Given the description of an element on the screen output the (x, y) to click on. 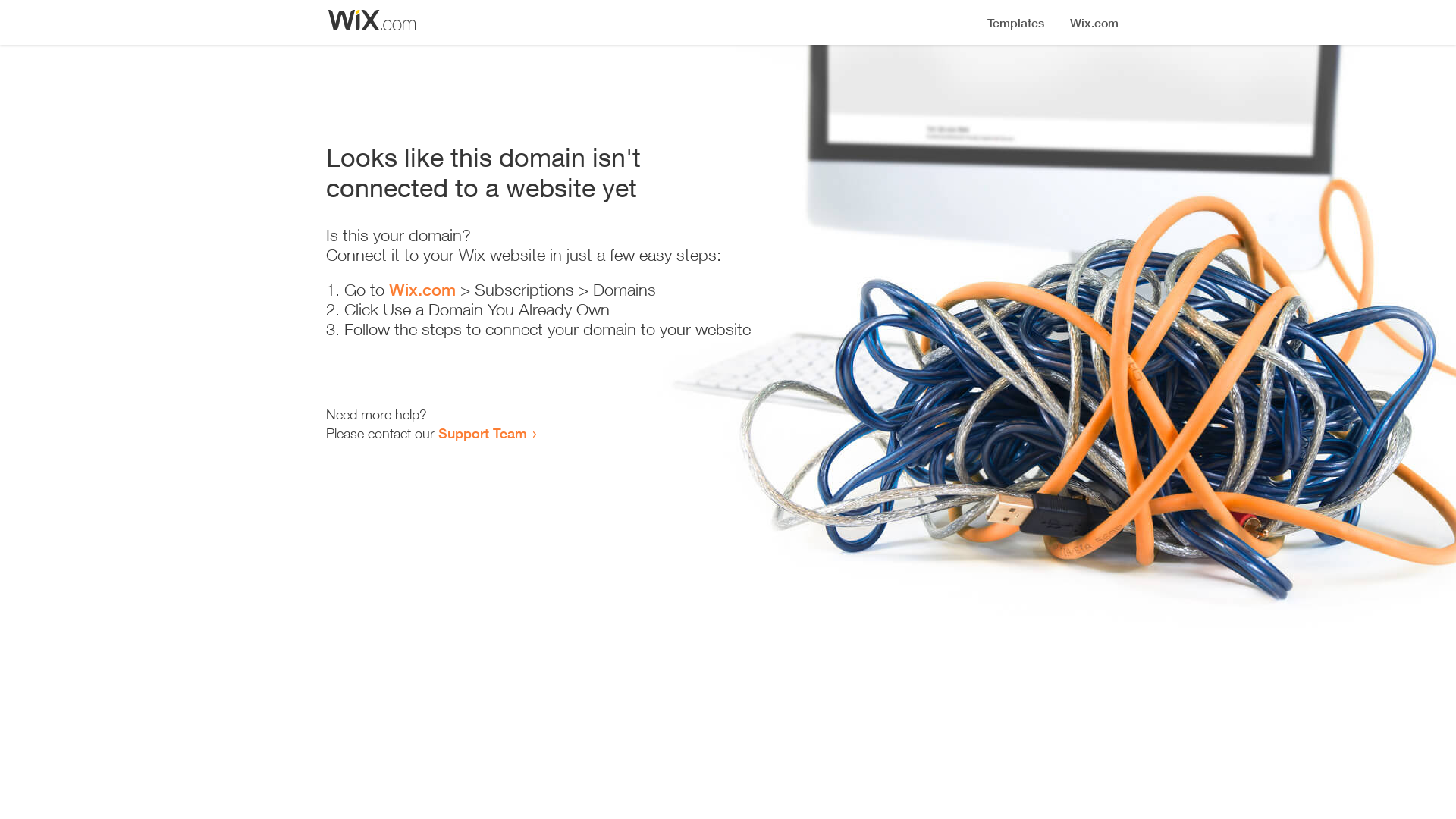
Support Team Element type: text (482, 432)
Wix.com Element type: text (422, 289)
